Given the description of an element on the screen output the (x, y) to click on. 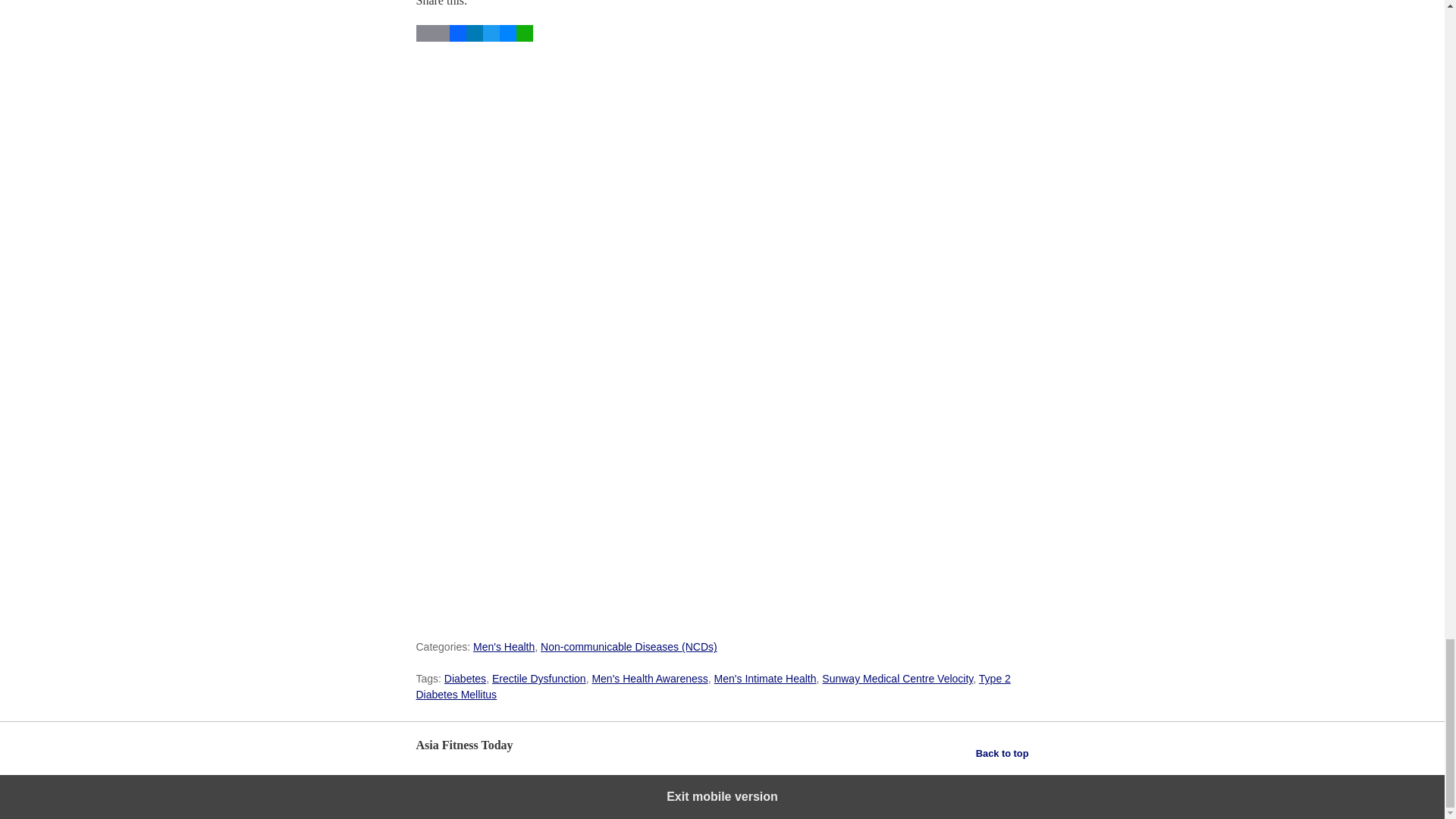
Erectile Dysfunction (539, 678)
Men's Health Awareness (649, 678)
LinkedIn (473, 37)
Facebook (456, 37)
Copy Link (440, 37)
WhatsApp (523, 37)
Men's Intimate Health (765, 678)
Diabetes (465, 678)
Twitter (490, 37)
Men's Health (503, 646)
Sunway Medical Centre Velocity (897, 678)
Messenger (507, 37)
Email (423, 37)
Type 2 Diabetes Mellitus (712, 686)
Back to top (1002, 753)
